Given the description of an element on the screen output the (x, y) to click on. 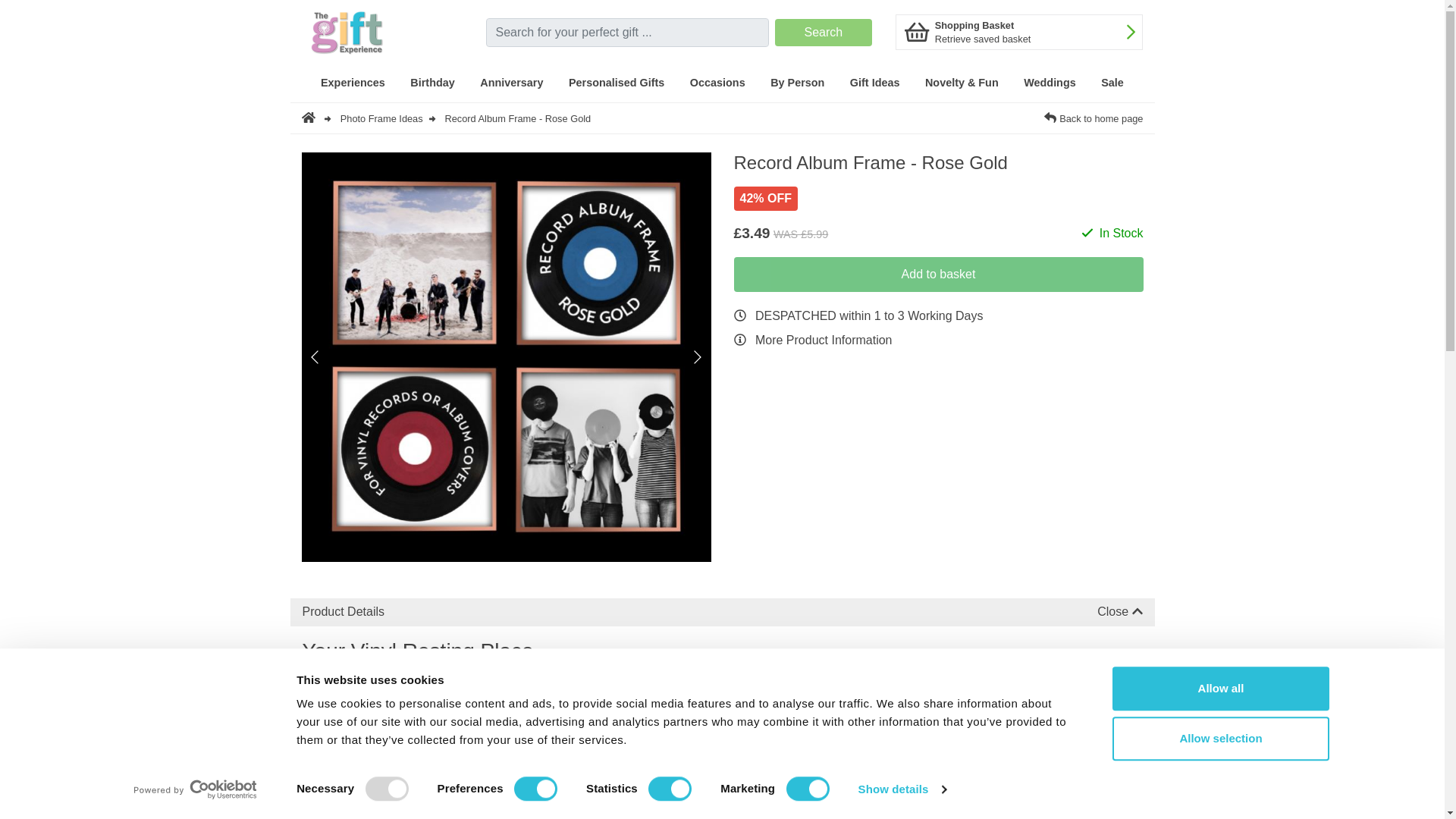
The Gift Experience Logo (376, 32)
Show details (900, 789)
Search (822, 31)
